Given the description of an element on the screen output the (x, y) to click on. 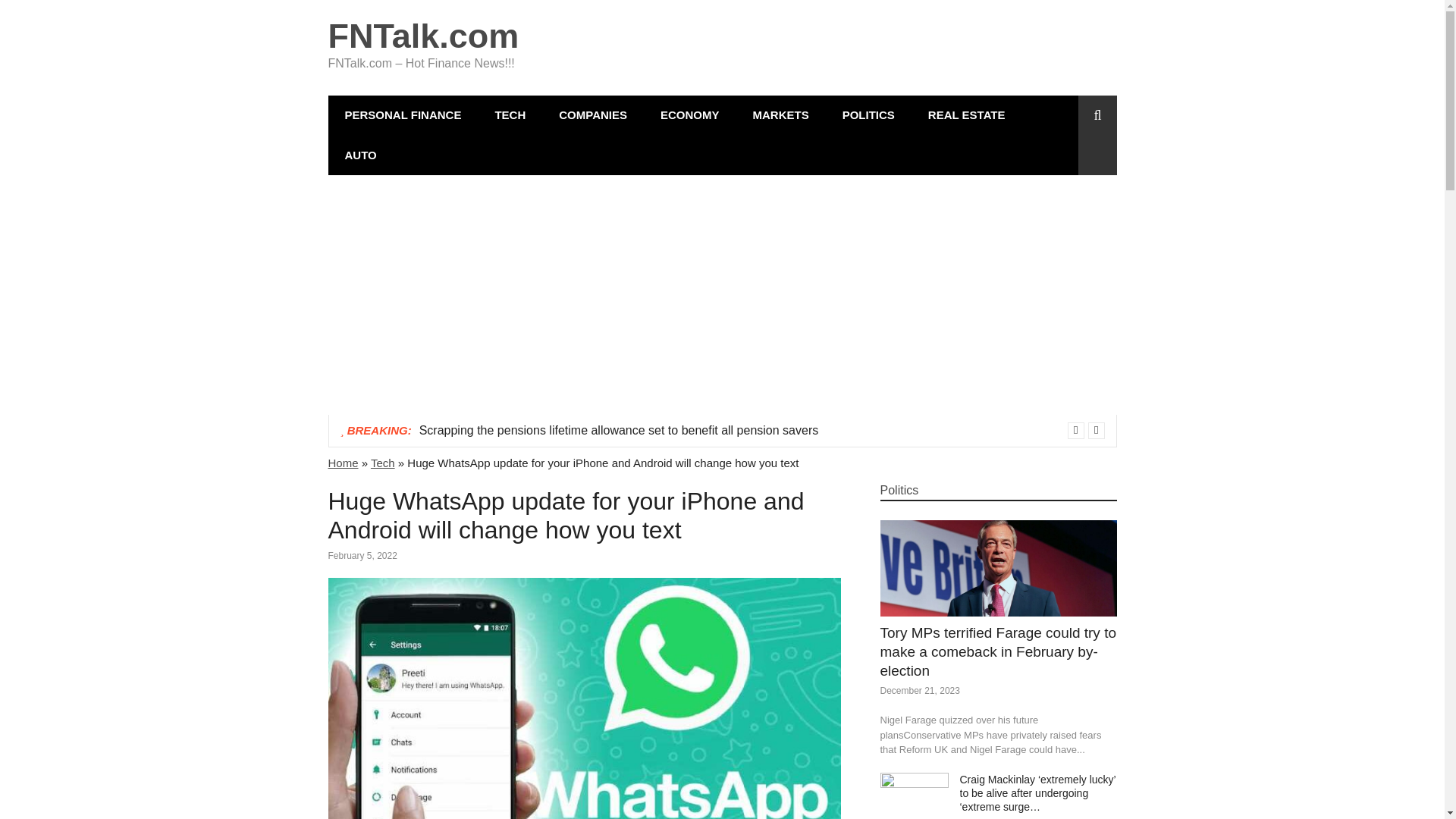
POLITICS (868, 115)
TECH (509, 115)
Home (342, 462)
AUTO (360, 155)
Tech (382, 462)
REAL ESTATE (966, 115)
COMPANIES (592, 115)
